Given the description of an element on the screen output the (x, y) to click on. 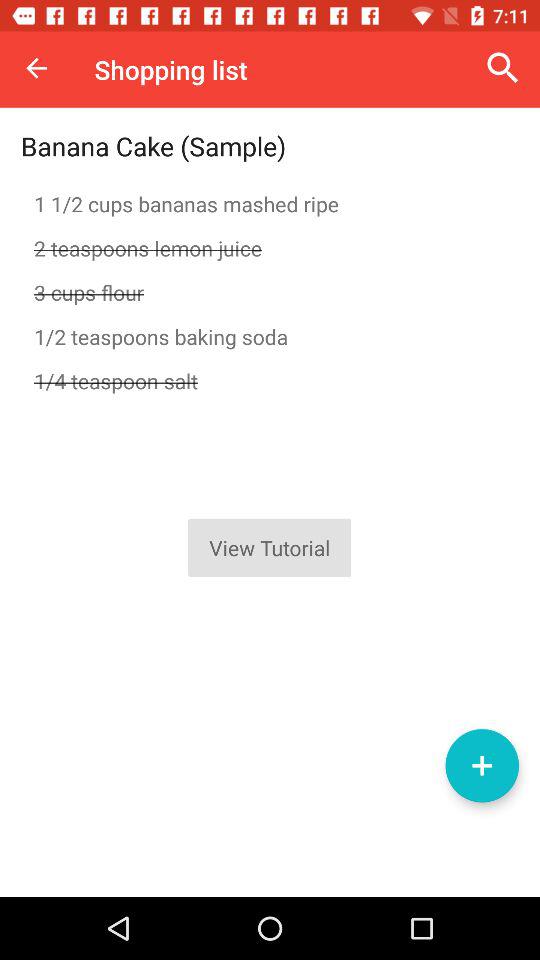
scroll until banana cake (sample) (153, 145)
